Given the description of an element on the screen output the (x, y) to click on. 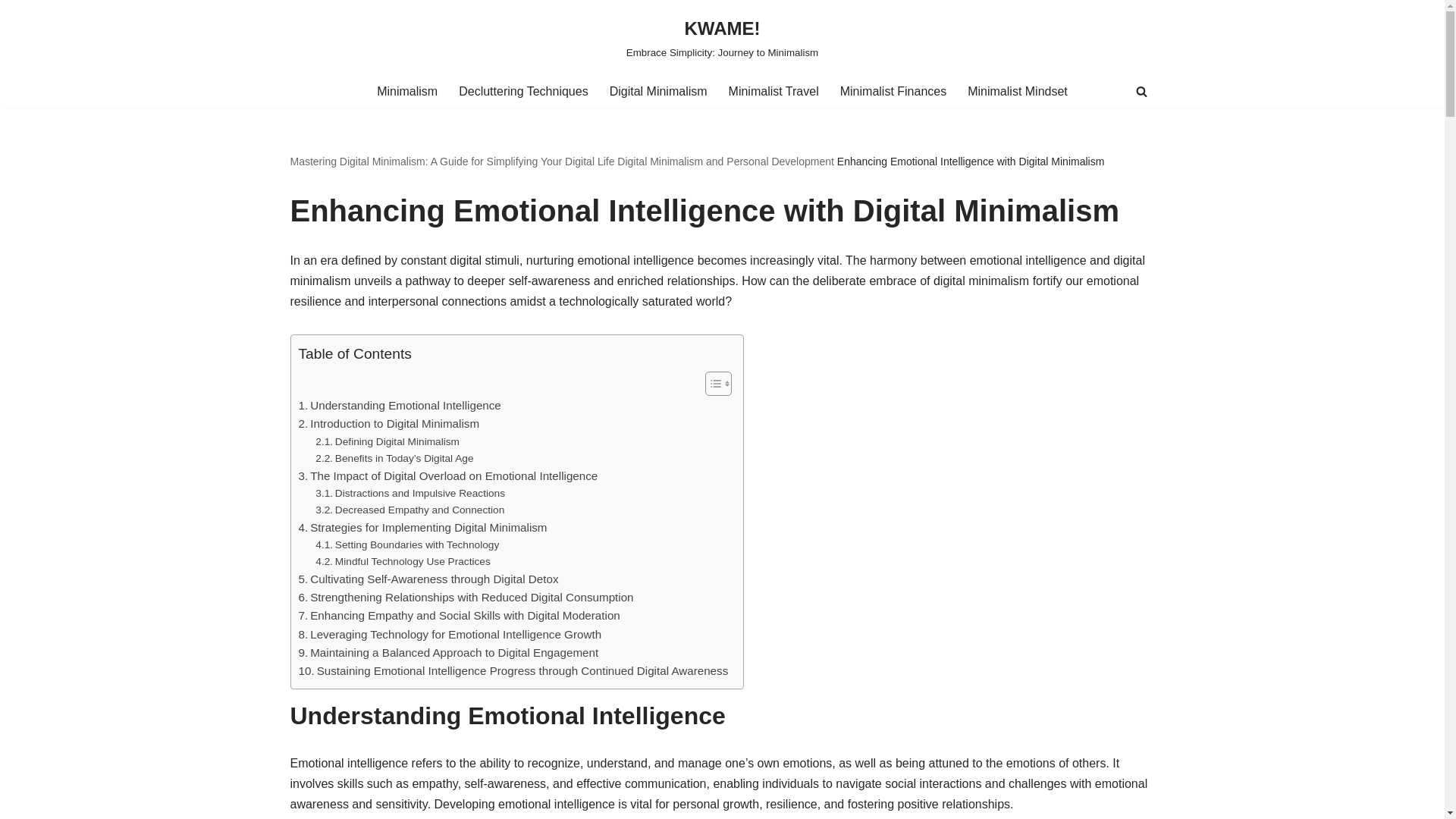
Strategies for Implementing Digital Minimalism (422, 527)
Cultivating Self-Awareness through Digital Detox (428, 579)
Skip to content (11, 31)
Minimalist Mindset (1017, 91)
The Impact of Digital Overload on Emotional Intelligence (448, 475)
Understanding Emotional Intelligence (399, 405)
Introduction to Digital Minimalism (389, 423)
Defining Digital Minimalism (387, 442)
Introduction to Digital Minimalism (389, 423)
Setting Boundaries with Technology (407, 545)
Leveraging Technology for Emotional Intelligence Growth (450, 634)
Strengthening Relationships with Reduced Digital Consumption (465, 597)
Enhancing Empathy and Social Skills with Digital Moderation (459, 615)
Maintaining a Balanced Approach to Digital Engagement (448, 652)
